Given the description of an element on the screen output the (x, y) to click on. 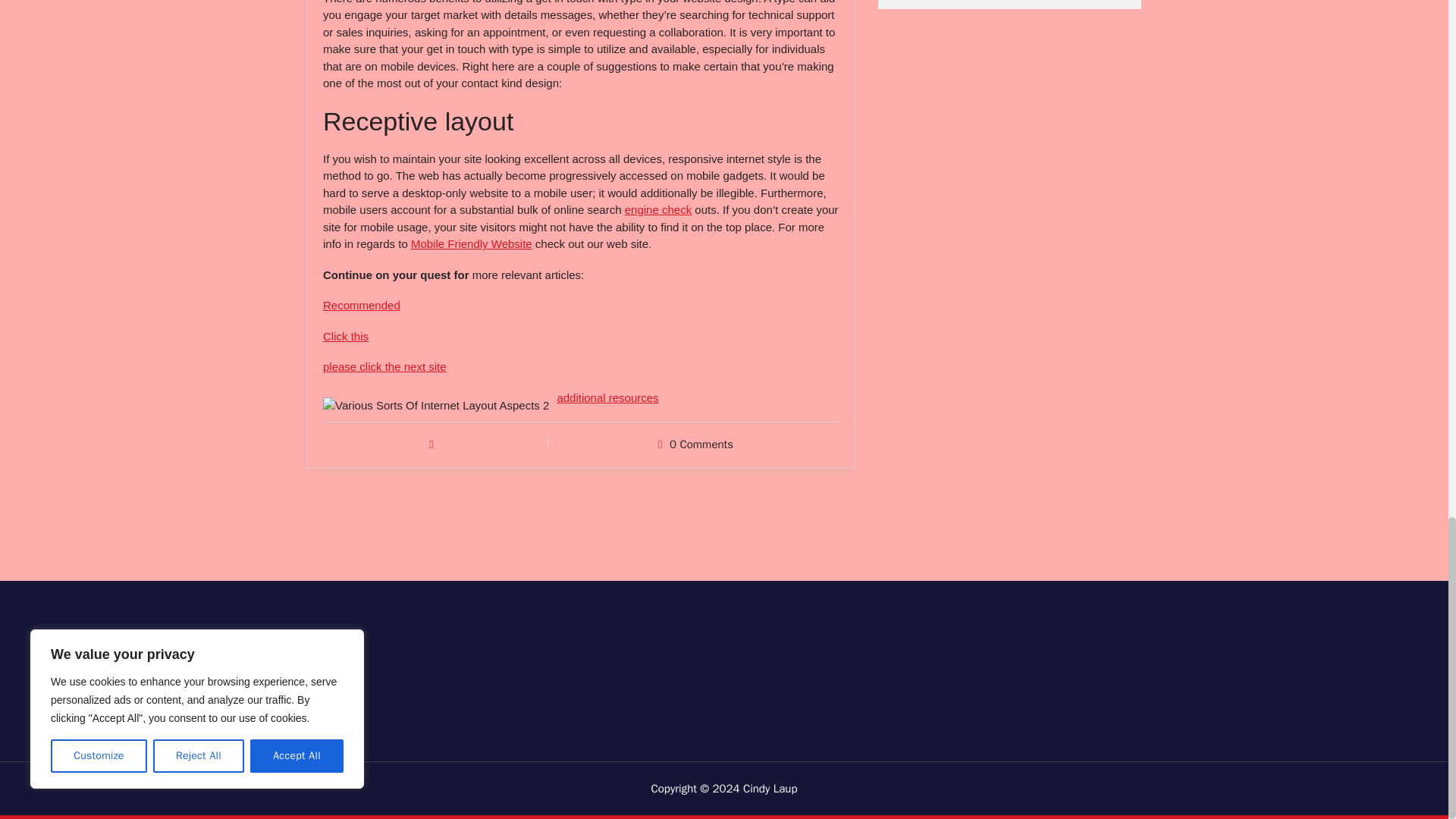
Recommended (361, 305)
engine check (657, 209)
additional resources (607, 397)
please click the next site (384, 366)
Mobile Friendly Website (471, 243)
Click this (345, 336)
